Given the description of an element on the screen output the (x, y) to click on. 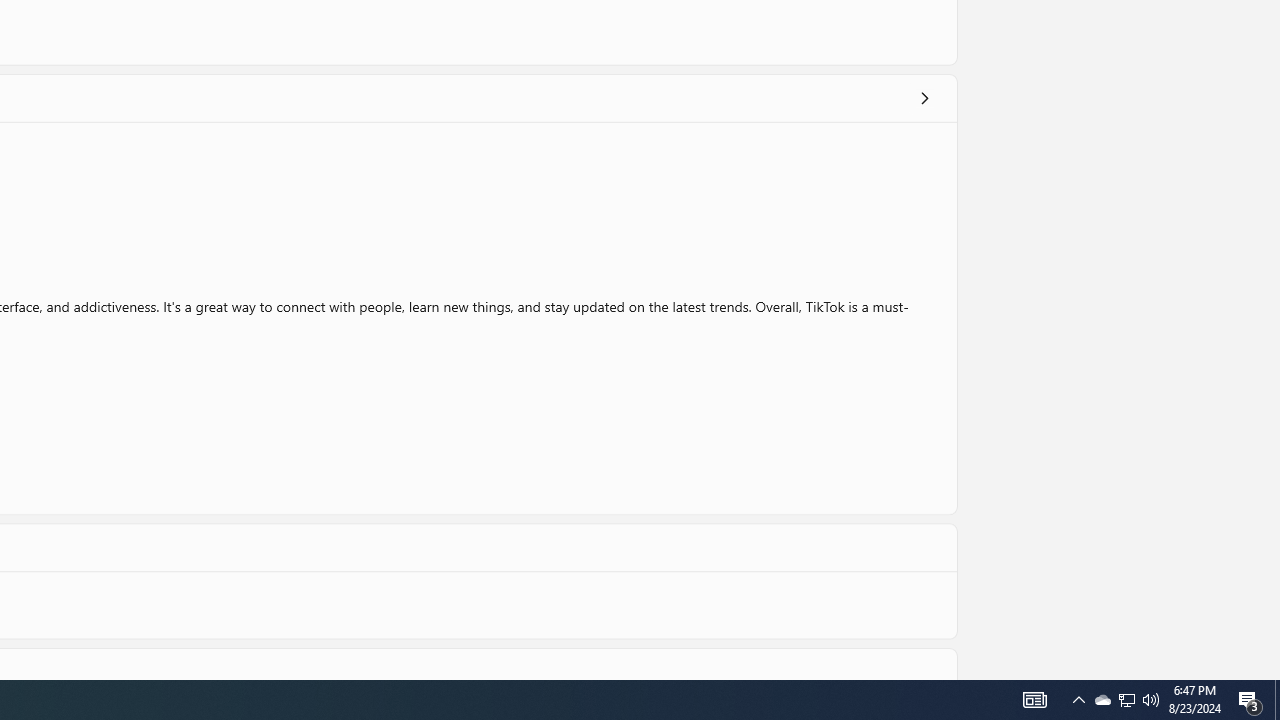
Show all ratings and reviews (924, 97)
